Given the description of an element on the screen output the (x, y) to click on. 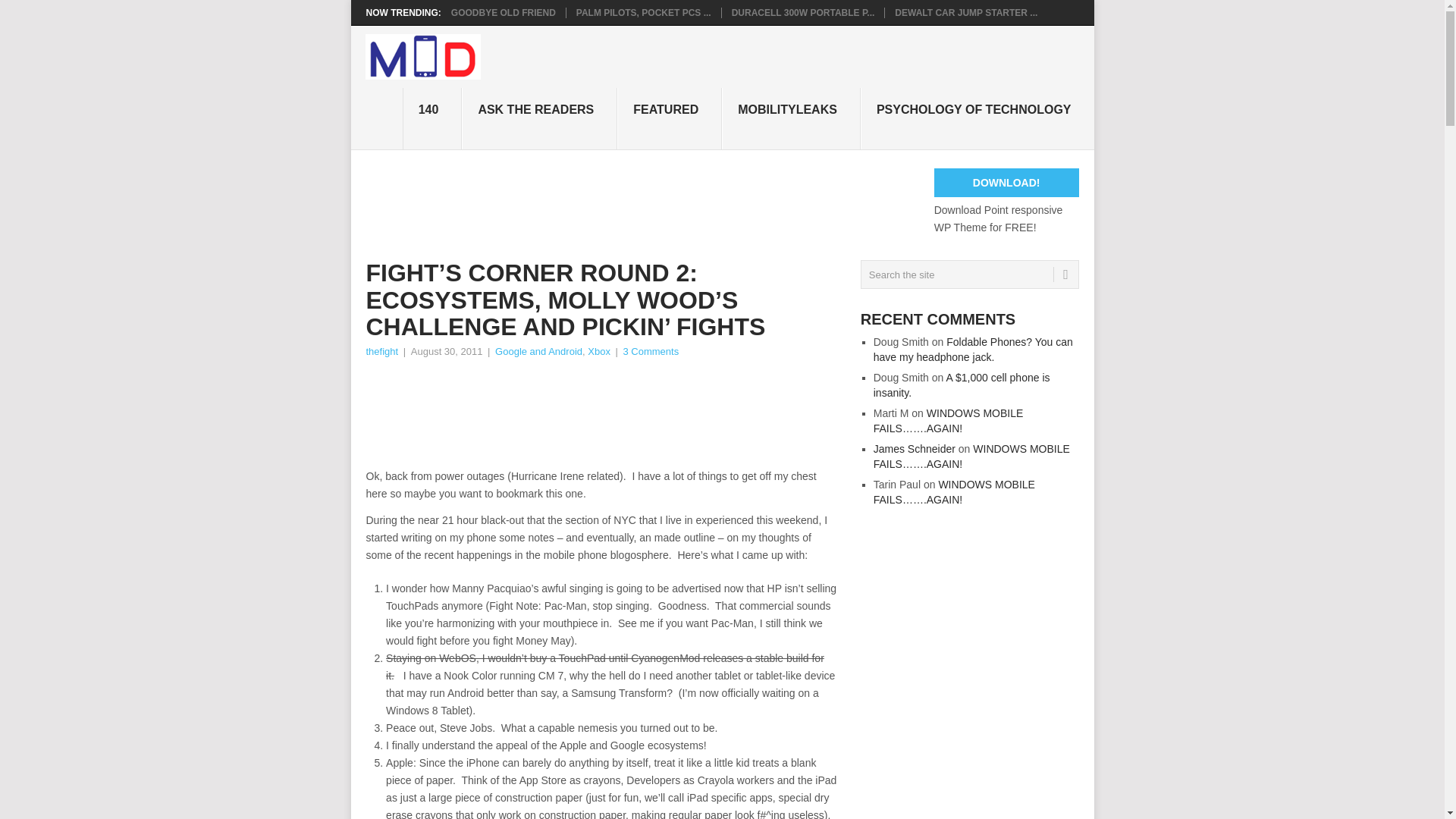
Foldable Phones? You can have my headphone jack. (973, 349)
3 Comments (651, 351)
Goodbye Old Friend (503, 12)
Search the site (969, 274)
DEWALT CAR JUMP STARTER ... (965, 12)
DeWalt Car Jump Starter Review (965, 12)
James Schneider (914, 449)
MOBILITYLEAKS (791, 118)
PALM PILOTS, POCKET PCS ... (643, 12)
Advertisement (641, 202)
